Given the description of an element on the screen output the (x, y) to click on. 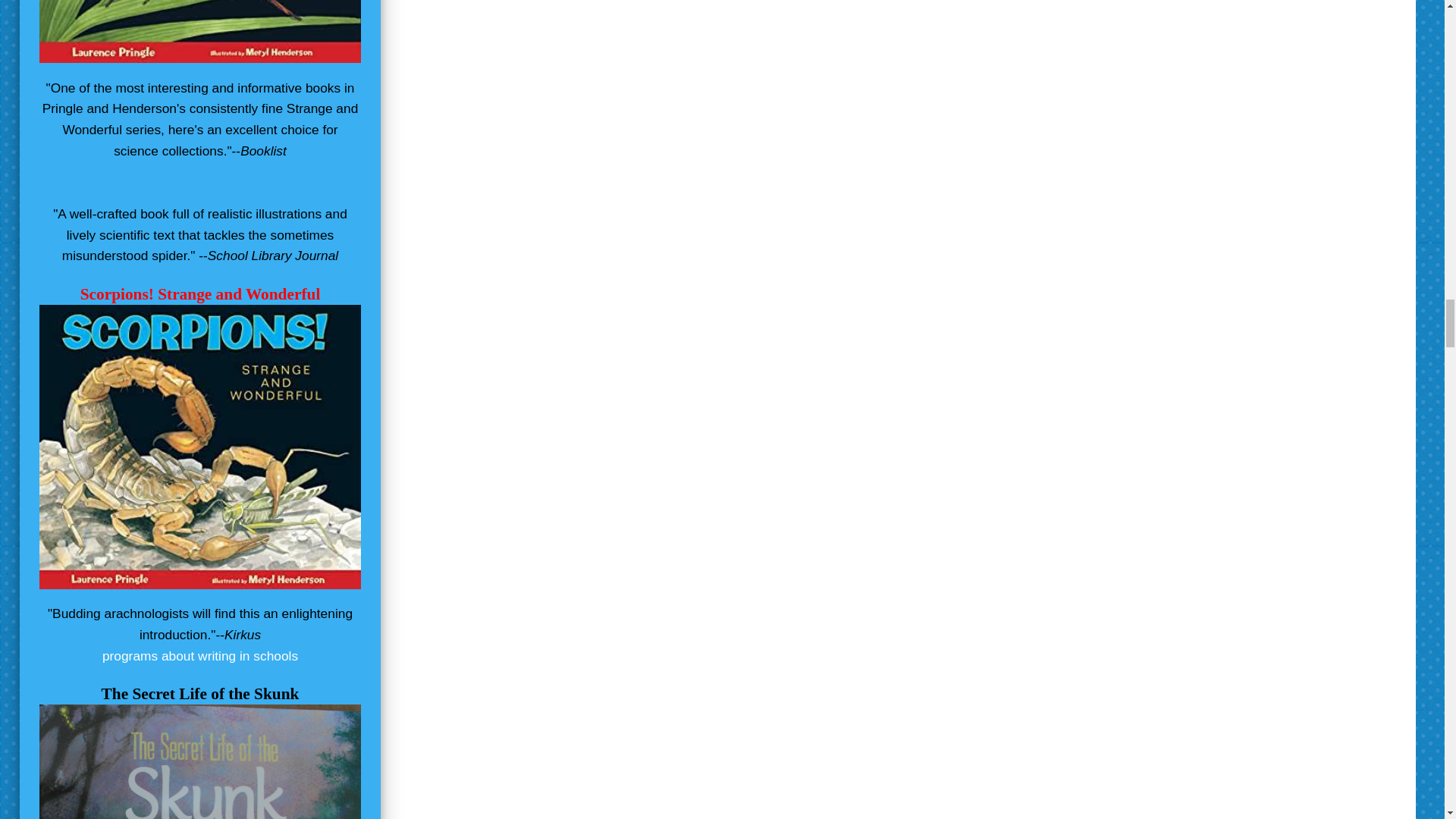
Scorpions! Strange and Wonderful (200, 294)
The Secret Life of the Skunk (200, 693)
